Given the description of an element on the screen output the (x, y) to click on. 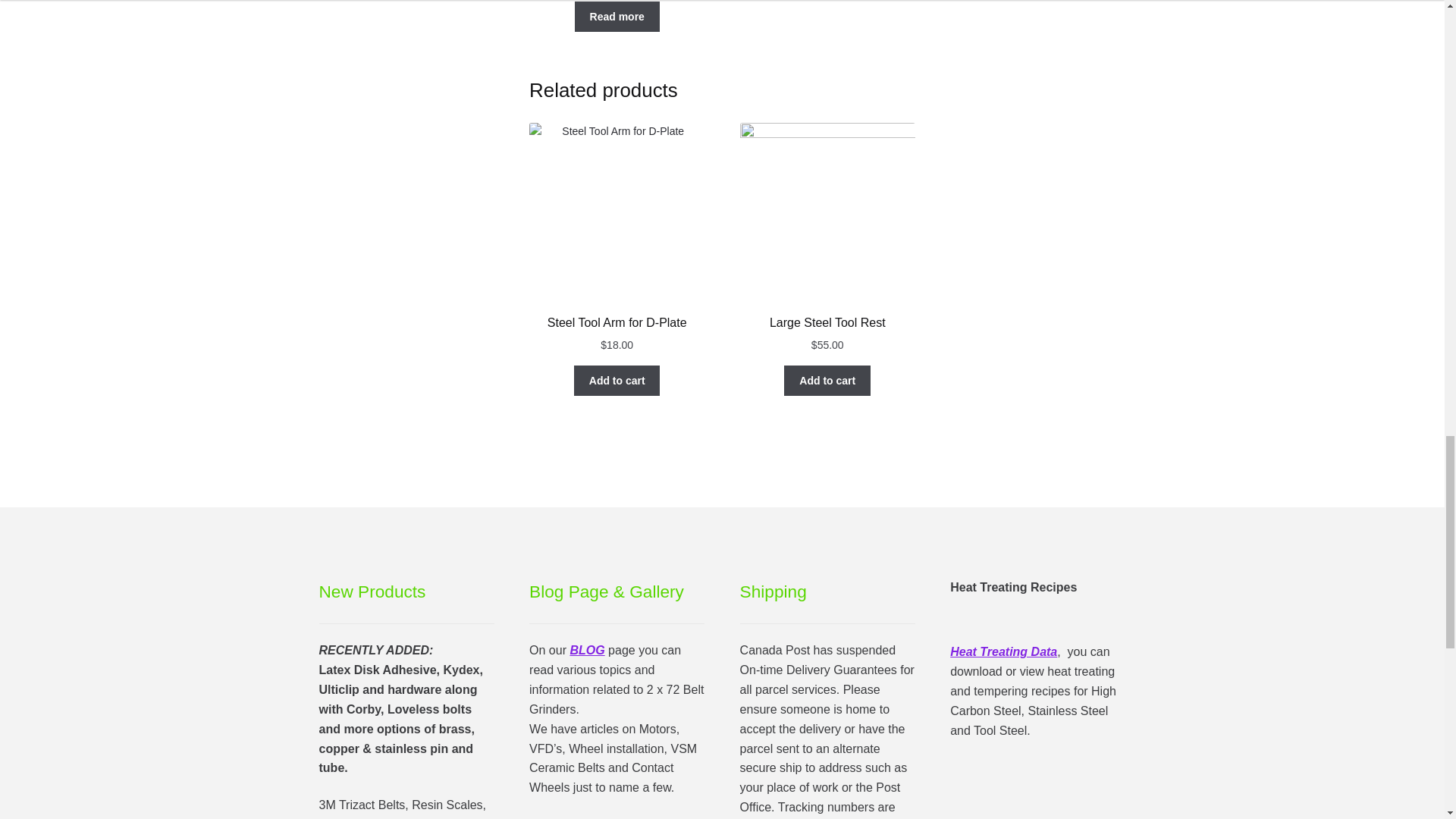
Read more (617, 16)
Add to cart (827, 380)
Add to cart (617, 380)
